Given the description of an element on the screen output the (x, y) to click on. 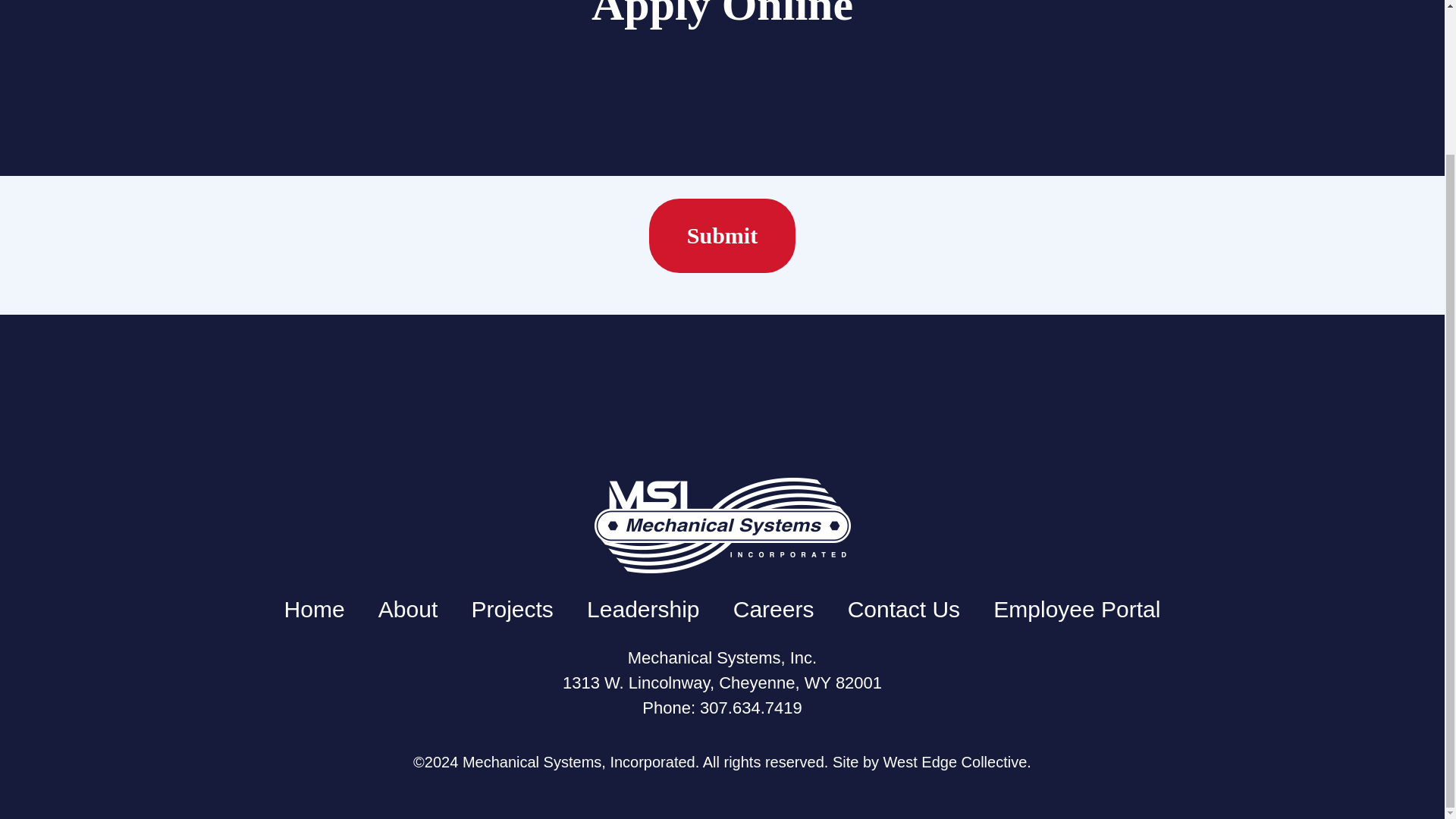
Contact Us (903, 609)
Submit (721, 235)
Home (314, 609)
Submit (721, 235)
About (408, 609)
Projects (511, 609)
Employee Portal (1076, 609)
West Edge Collective. (956, 761)
Leadership (642, 609)
Careers (773, 609)
